Given the description of an element on the screen output the (x, y) to click on. 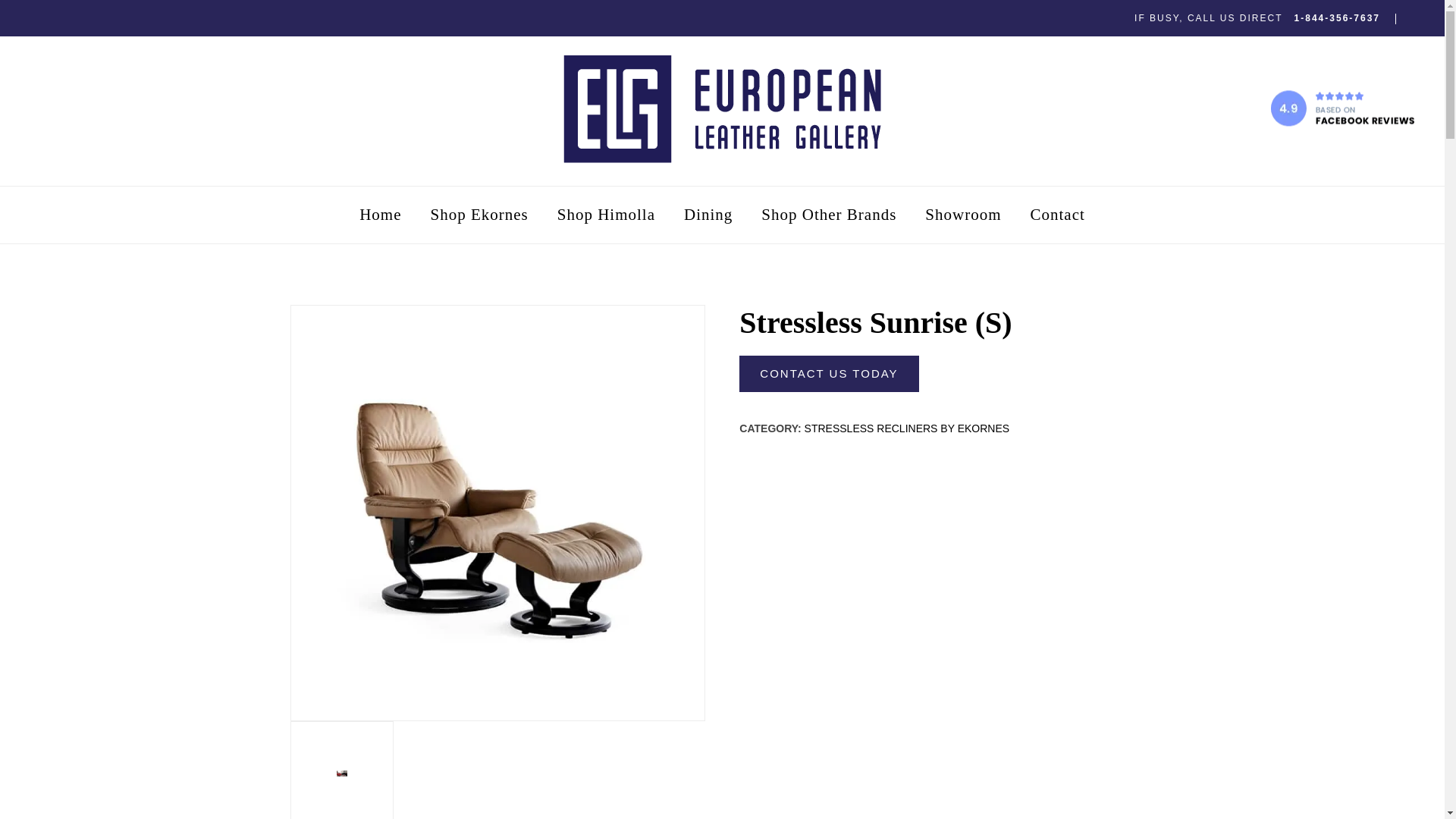
Showroom (962, 214)
Shop Other Brands (828, 214)
Contact Us Today (828, 373)
Home (379, 214)
Himolla Furniture (606, 214)
Dining (708, 214)
STRESSLESS RECLINERS BY EKORNES (907, 428)
Delivered Sunrise (342, 771)
1-844-356-7637 (1337, 18)
Shop Himolla (606, 214)
